Given the description of an element on the screen output the (x, y) to click on. 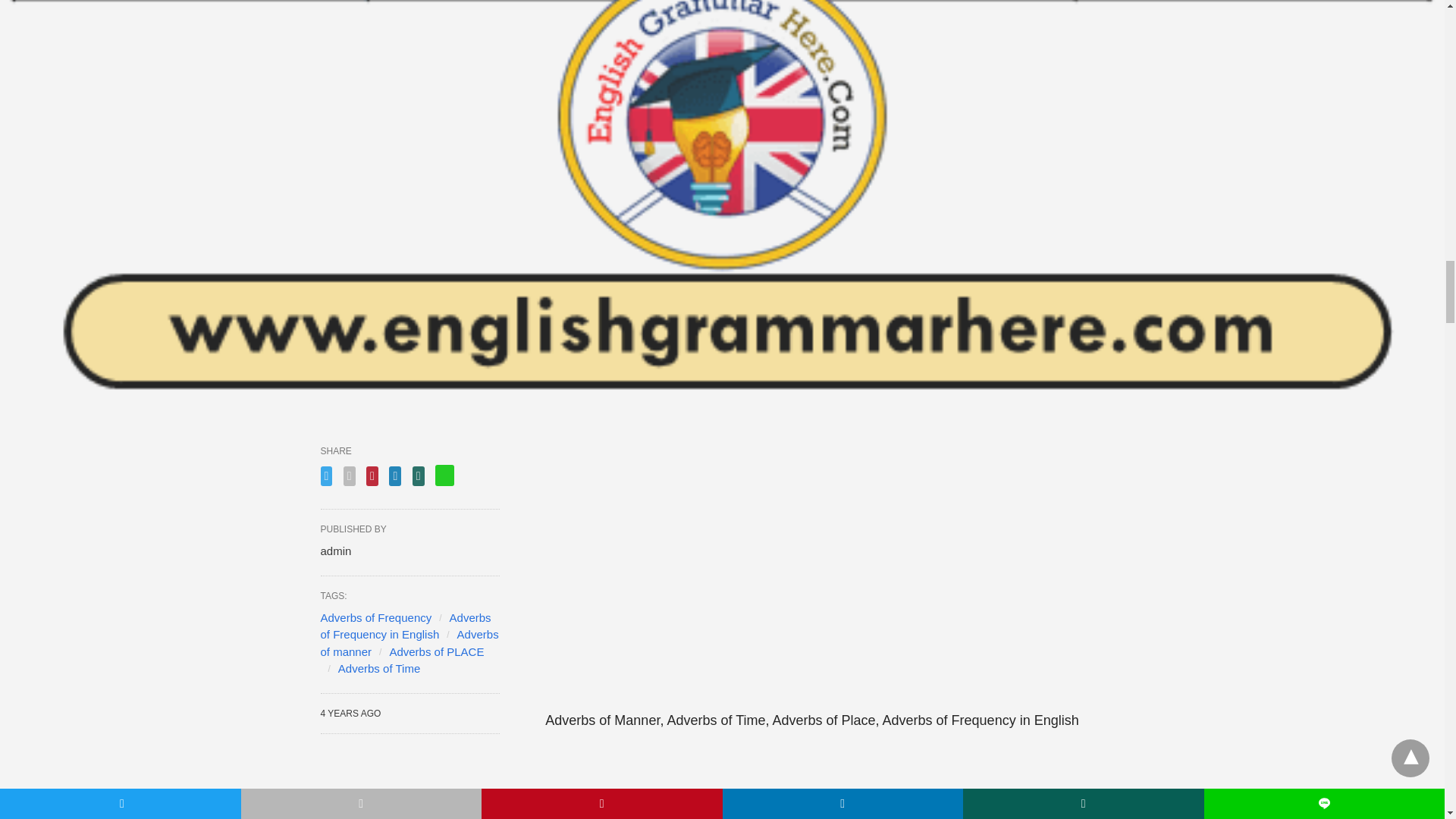
Adverbs of Frequency (375, 617)
Adverbs of PLACE (435, 650)
Adverbs of manner (408, 643)
Adverbs of Frequency in English (405, 625)
Adverbs of Time (378, 667)
line share (444, 475)
